Given the description of an element on the screen output the (x, y) to click on. 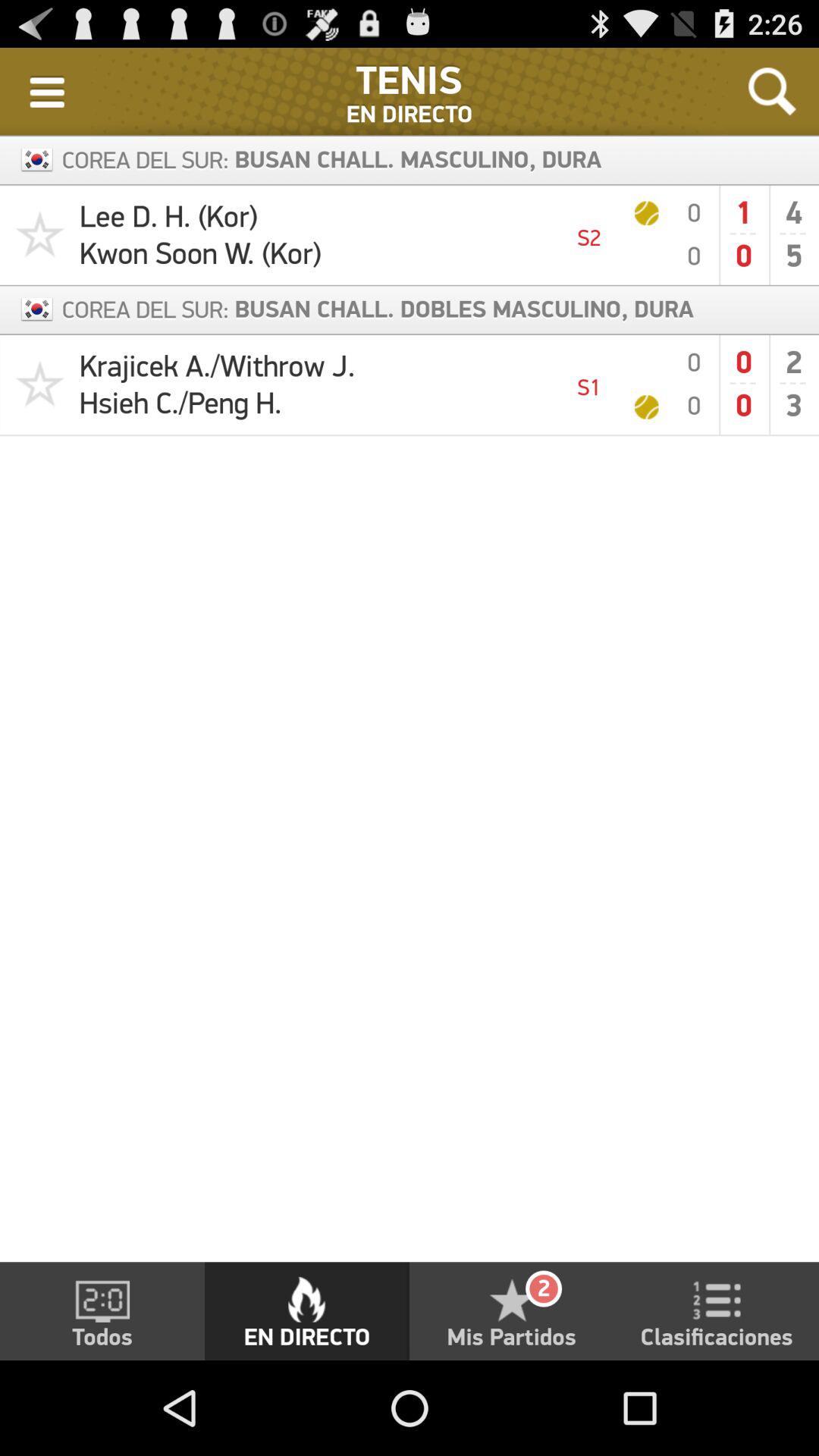
choose icon next to :  item (46, 91)
